Given the description of an element on the screen output the (x, y) to click on. 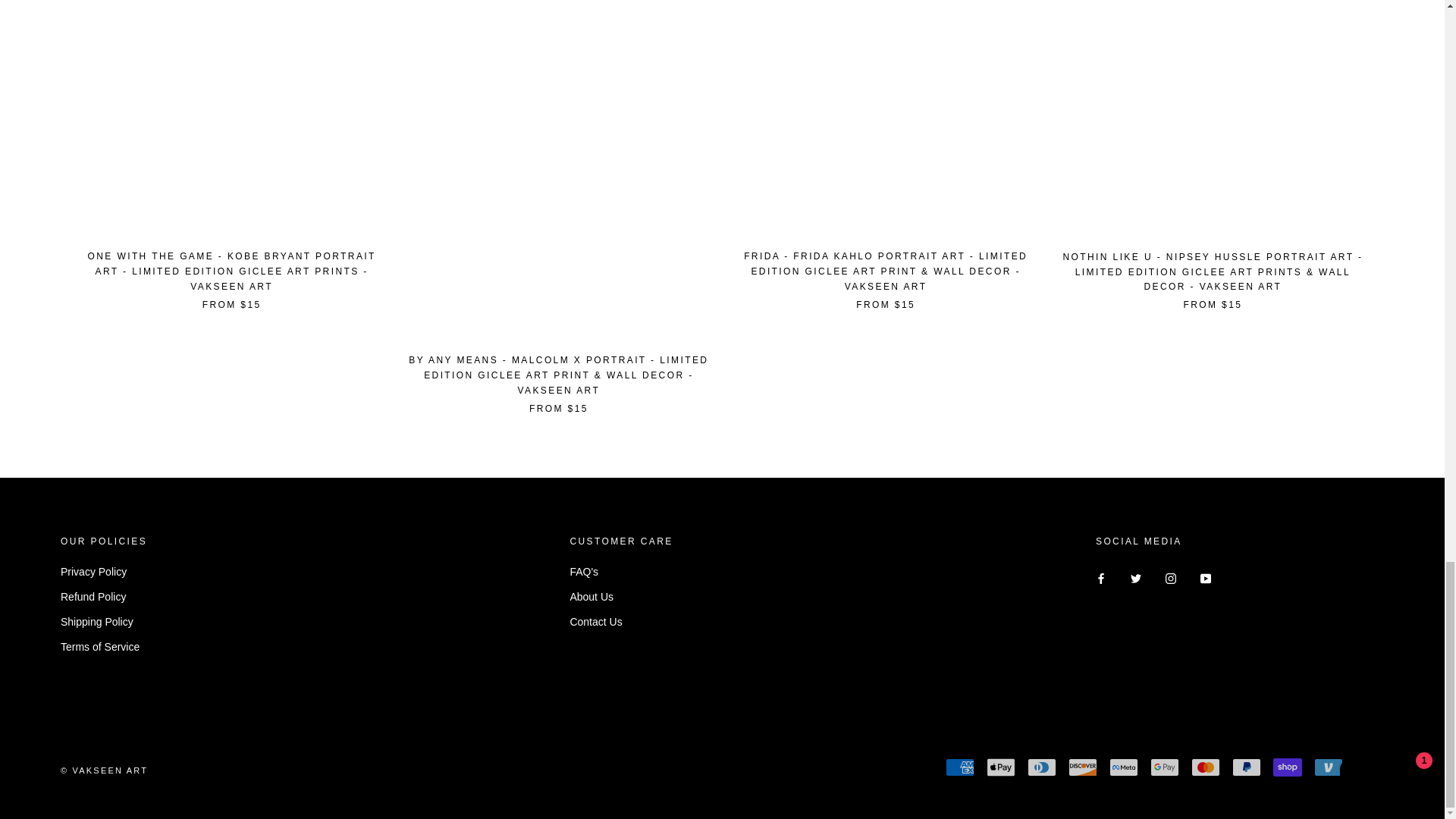
PayPal (1245, 767)
Google Pay (1164, 767)
American Express (959, 767)
Apple Pay (1000, 767)
Discover (1082, 767)
Mastercard (1205, 767)
Meta Pay (1123, 767)
Diners Club (1042, 767)
